Given the description of an element on the screen output the (x, y) to click on. 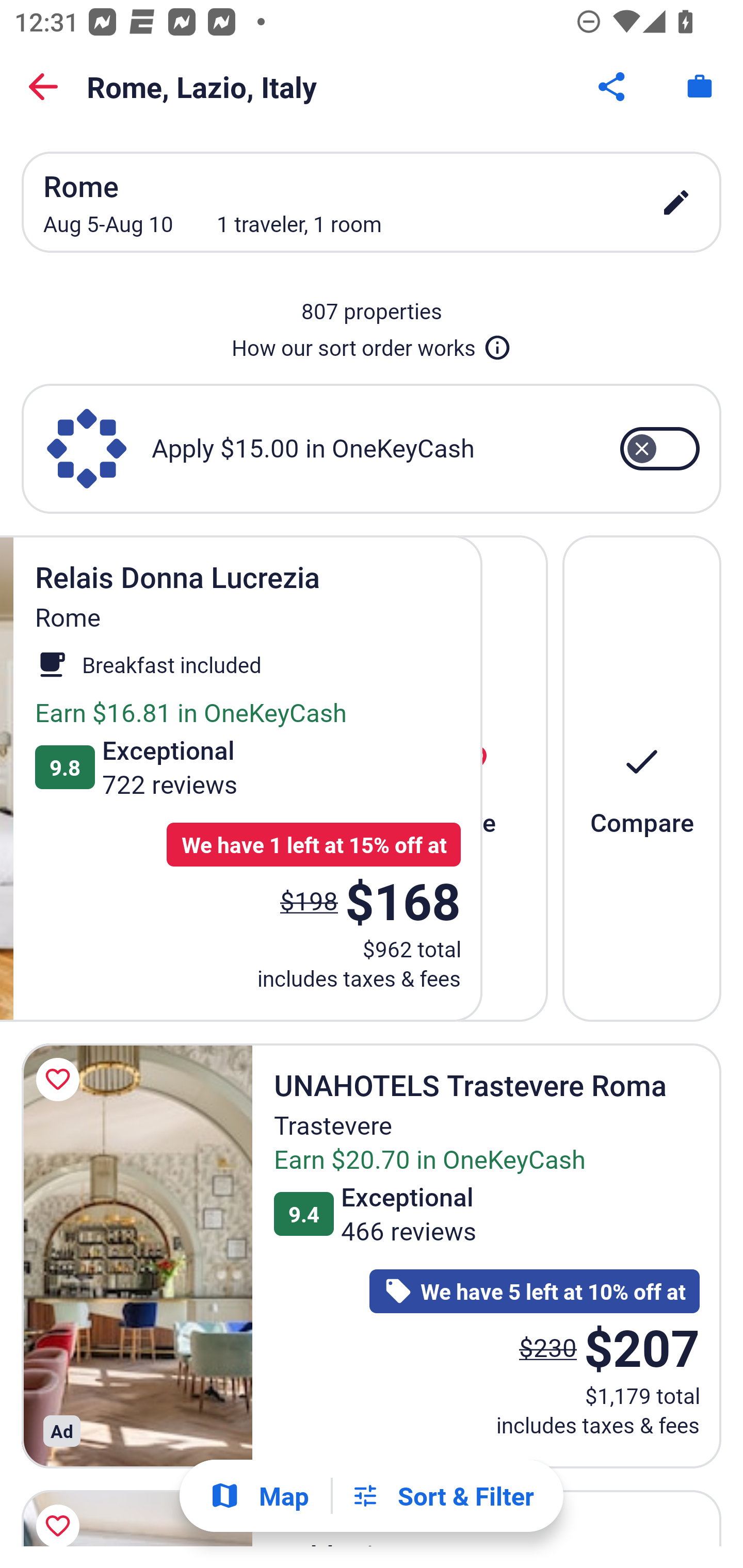
Back (43, 86)
Share Button (612, 86)
Trips. Button (699, 86)
Rome Aug 5-Aug 10 1 traveler, 1 room edit (371, 202)
How our sort order works (371, 344)
Compare (641, 778)
$198 The price was $198 (308, 900)
Save UNAHOTELS Trastevere Roma to a trip (61, 1079)
UNAHOTELS Trastevere Roma (136, 1255)
$230 The price was $230 (547, 1347)
Filters Sort & Filter Filters Button (442, 1495)
Show map Map Show map Button (258, 1495)
Save Goldoni 47 to a trip (61, 1514)
